Given the description of an element on the screen output the (x, y) to click on. 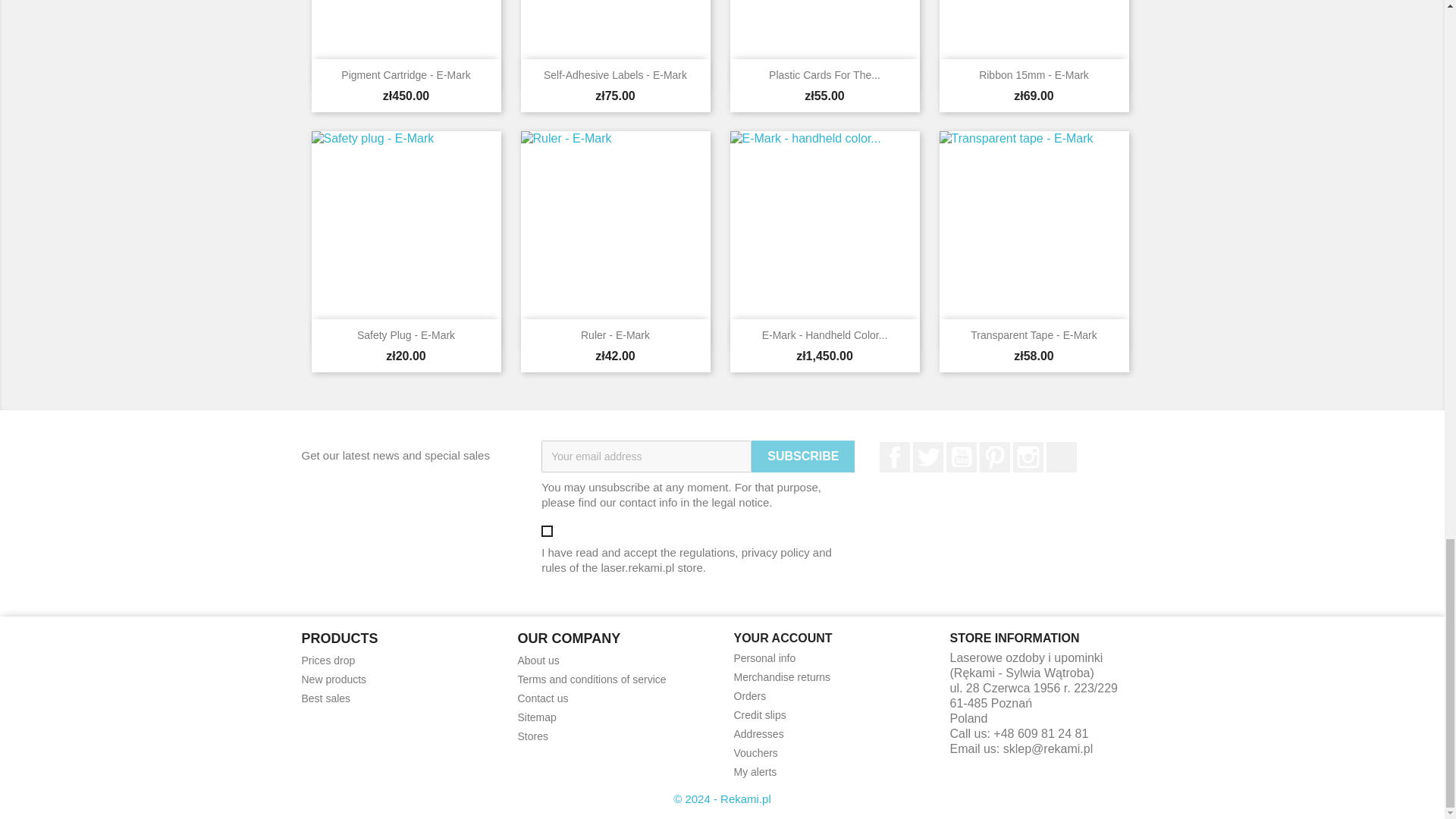
Subscribe (802, 456)
